Given the description of an element on the screen output the (x, y) to click on. 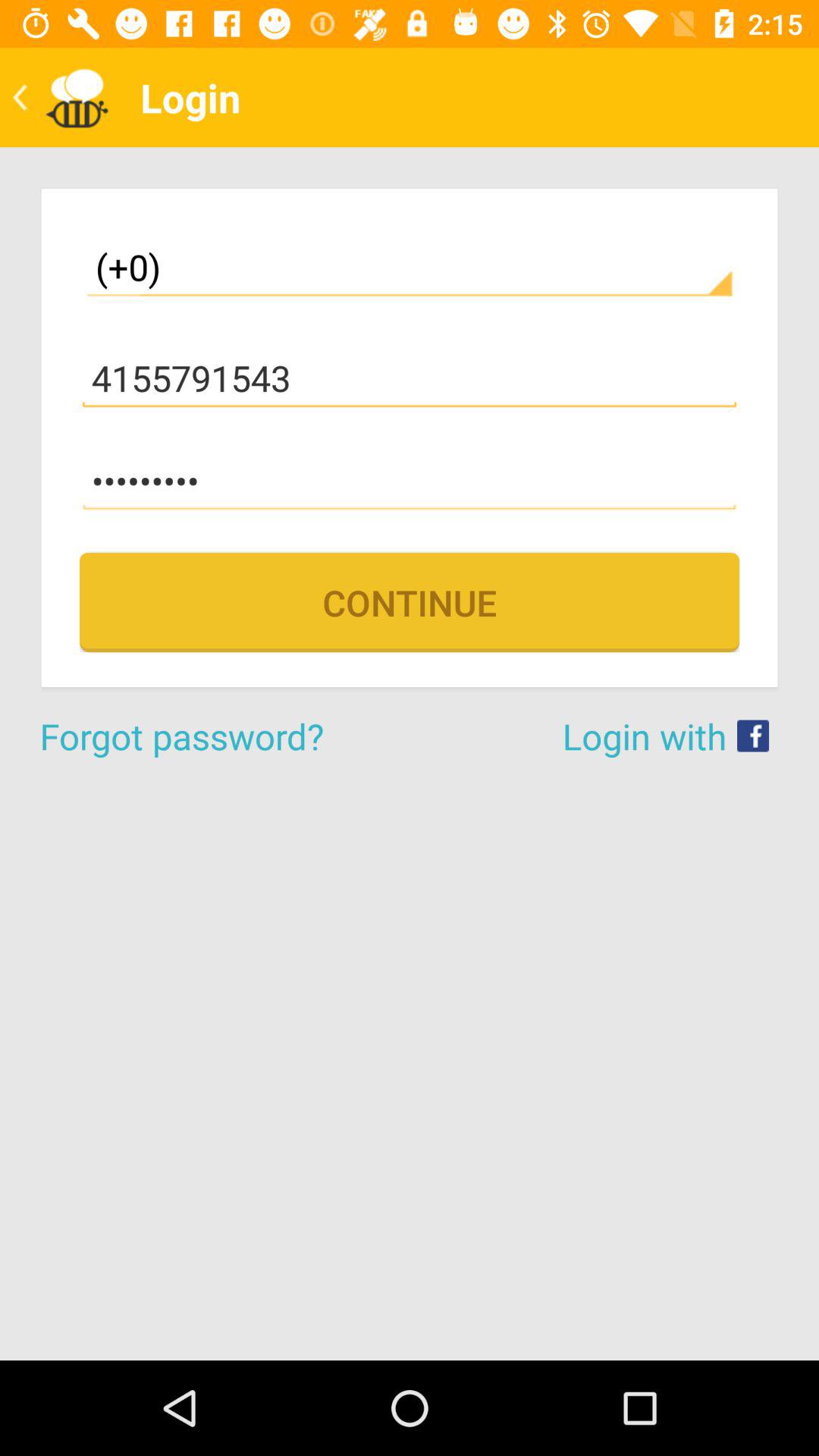
turn on item below 4155791543 (409, 481)
